Given the description of an element on the screen output the (x, y) to click on. 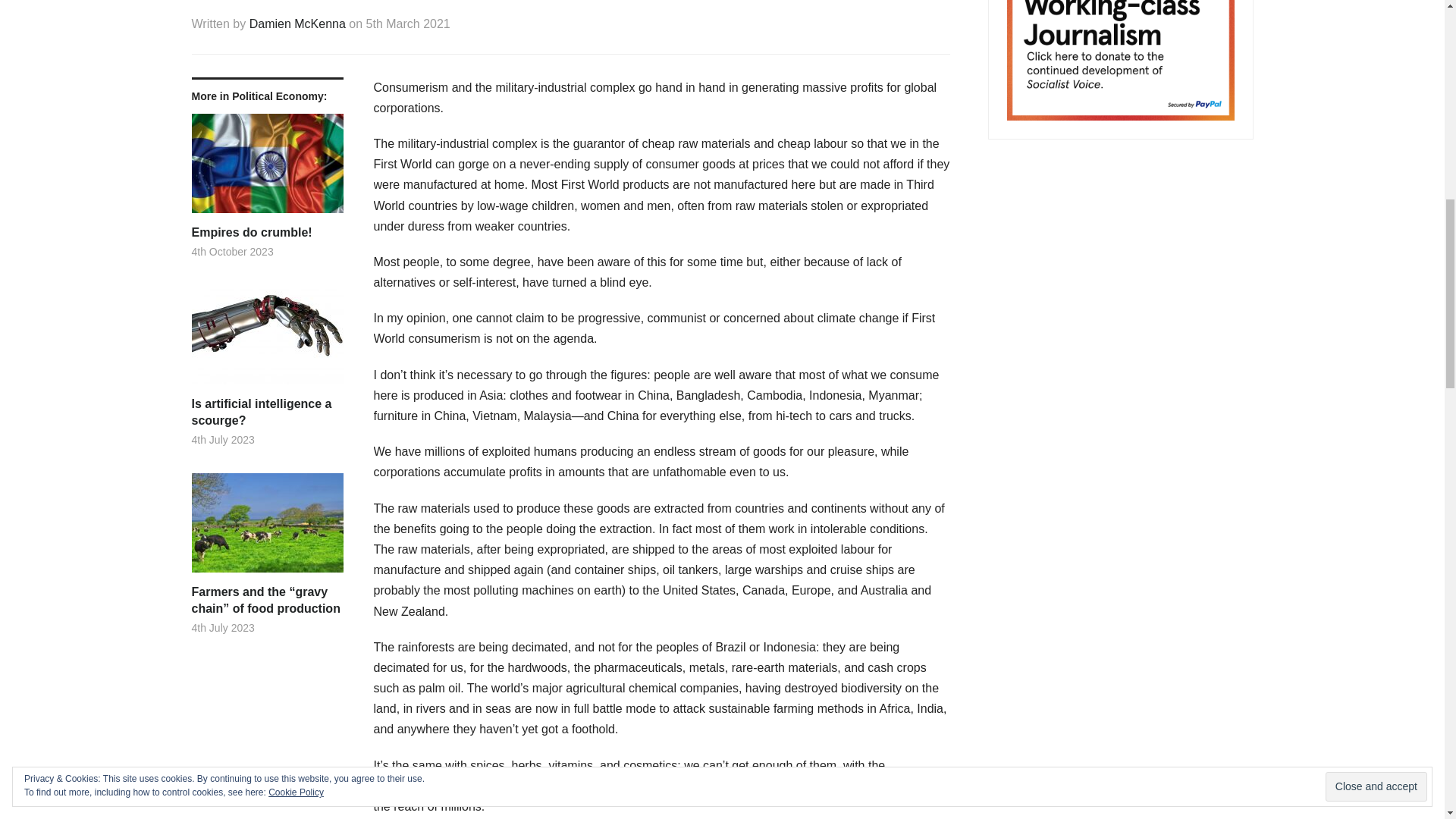
Permalink to Empires do crumble! (266, 168)
Permalink to Empires do crumble! (266, 232)
Permalink to Is artificial intelligence a scourge? (266, 412)
Permalink to Is artificial intelligence a scourge? (266, 340)
